Given the description of an element on the screen output the (x, y) to click on. 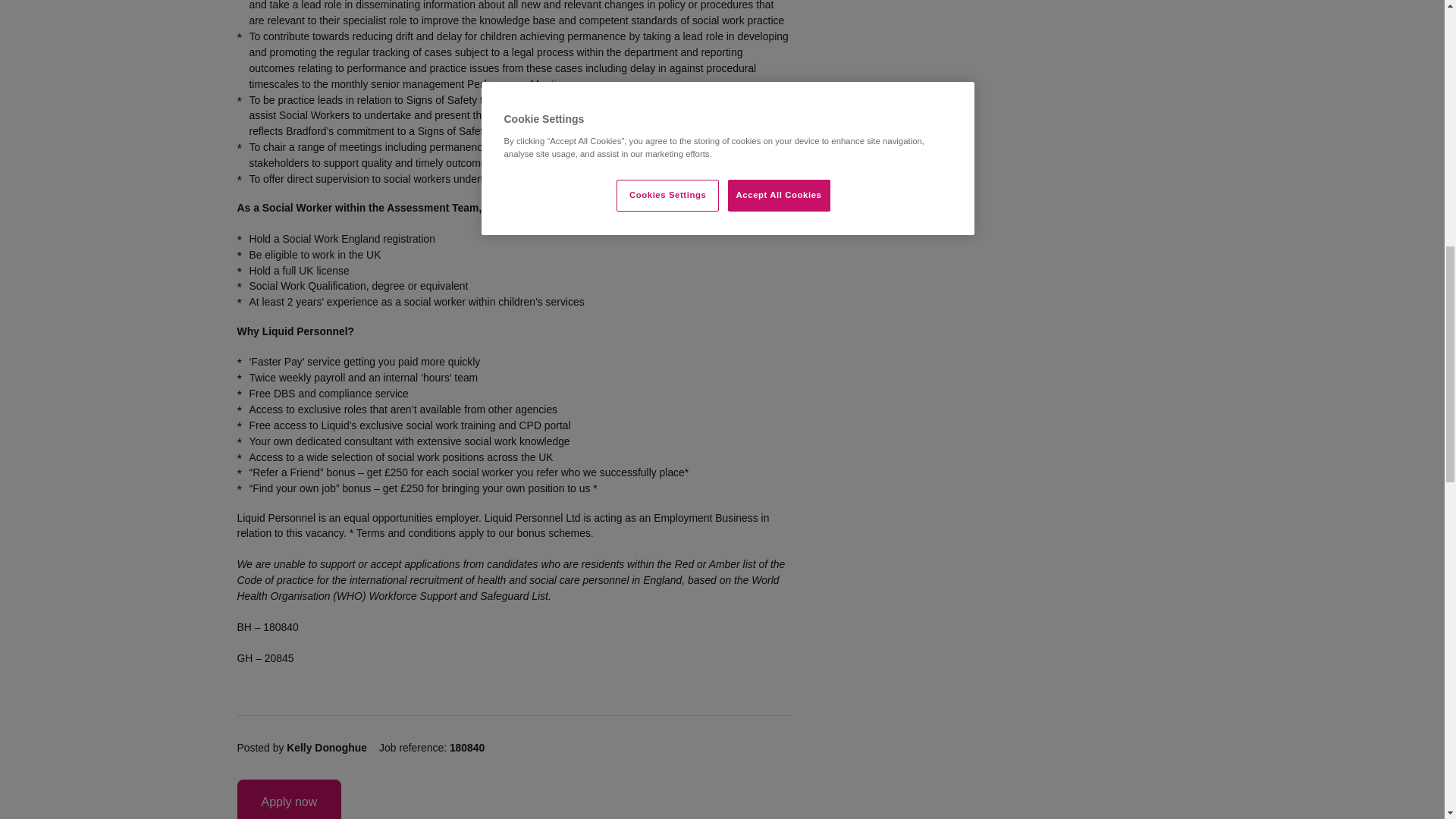
Job reference (437, 747)
Posted by (306, 747)
